Given the description of an element on the screen output the (x, y) to click on. 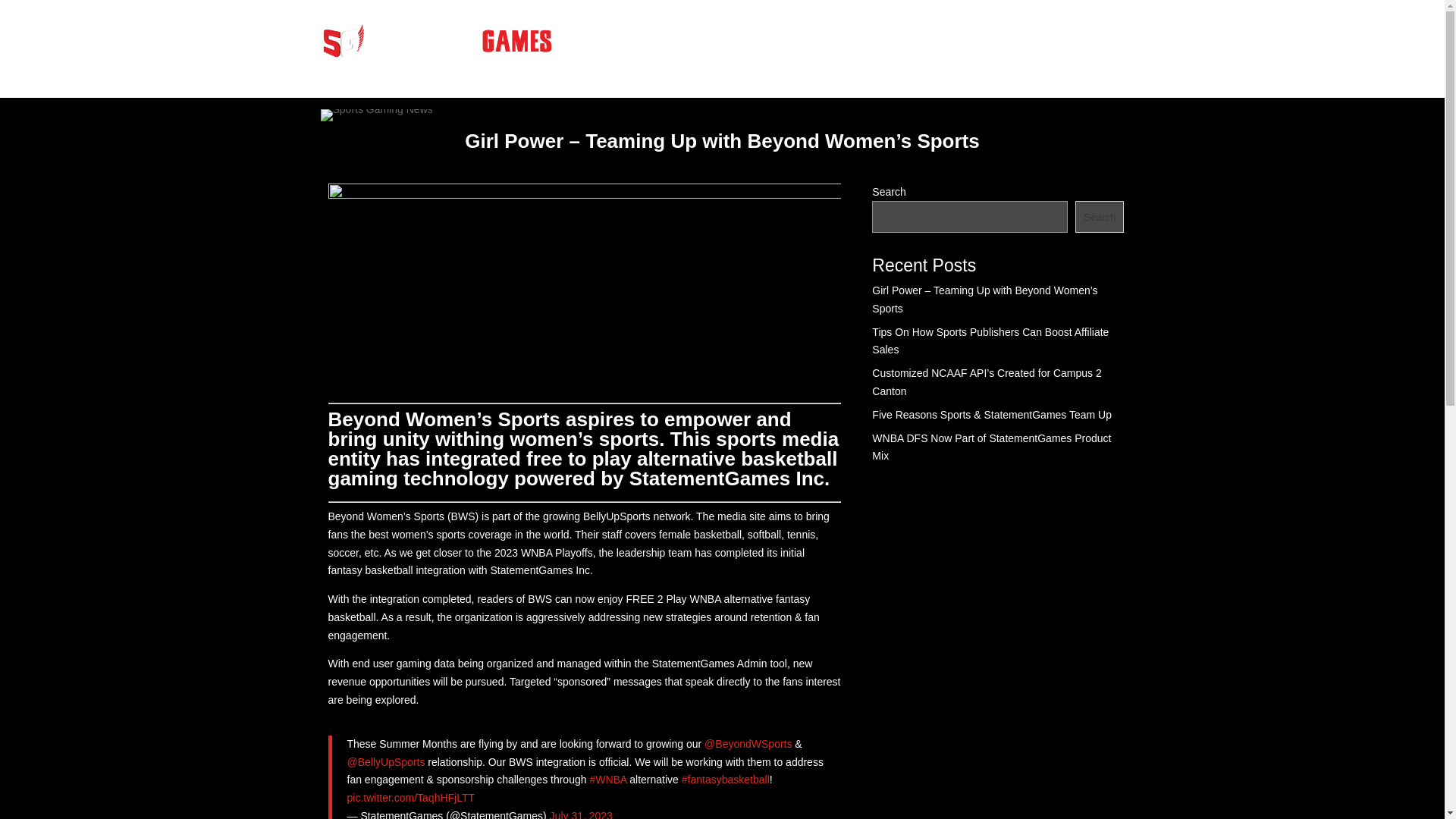
July 31, 2023 (581, 814)
Play (977, 45)
Blog (852, 45)
Products (778, 45)
About (915, 45)
